Given the description of an element on the screen output the (x, y) to click on. 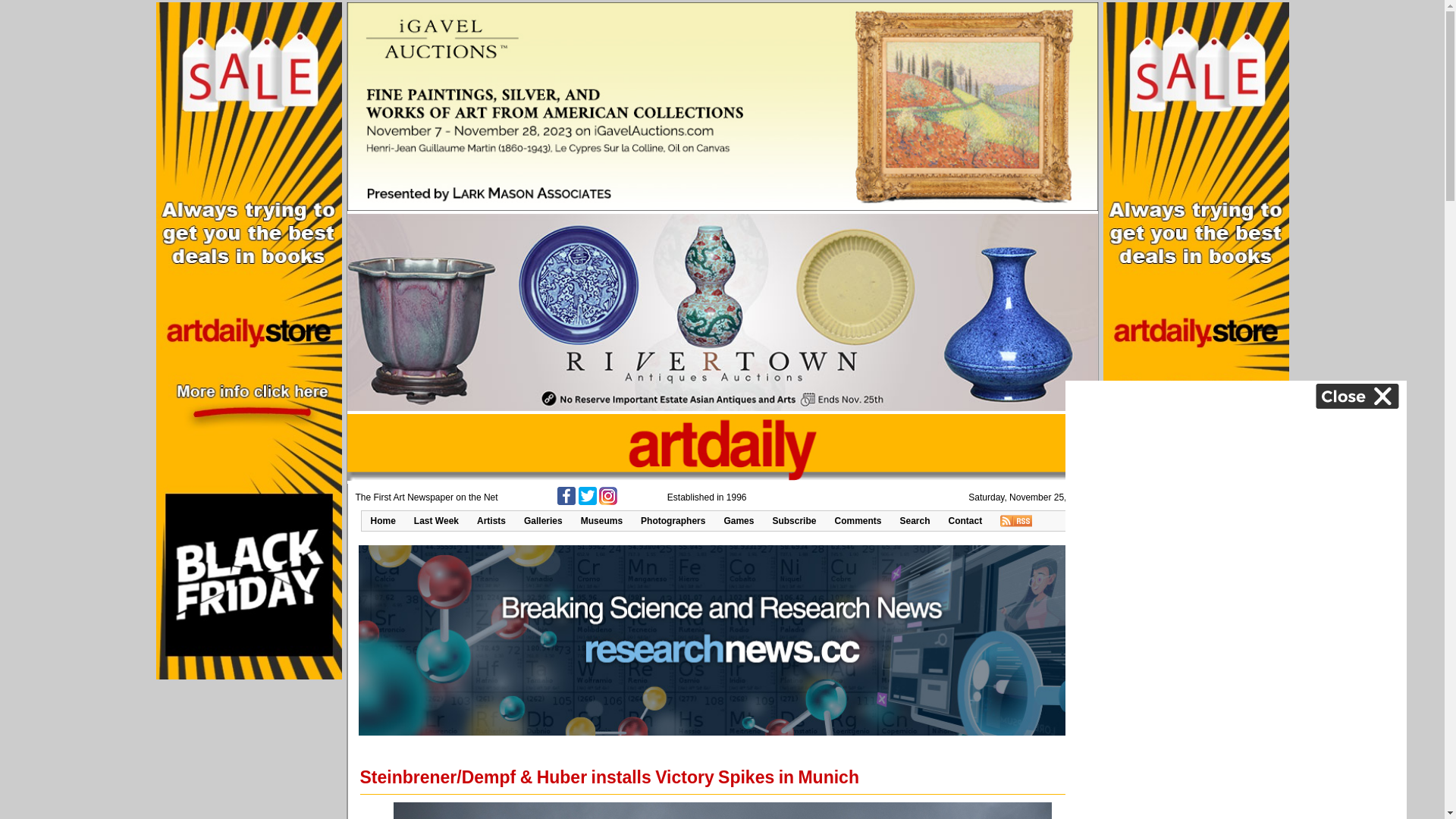
Subscribe Element type: text (793, 520)
Games Element type: text (738, 520)
Search Element type: text (914, 520)
Photographers Element type: text (672, 520)
Contact Element type: text (965, 520)
Home Element type: text (382, 520)
Last Week Element type: text (435, 520)
Comments Element type: text (857, 520)
Facebook Element type: hover (566, 501)
Galleries Element type: text (542, 520)
Twitter Element type: hover (587, 501)
Instagram Element type: hover (608, 501)
Artists Element type: text (490, 520)
Museums Element type: text (601, 520)
